Given the description of an element on the screen output the (x, y) to click on. 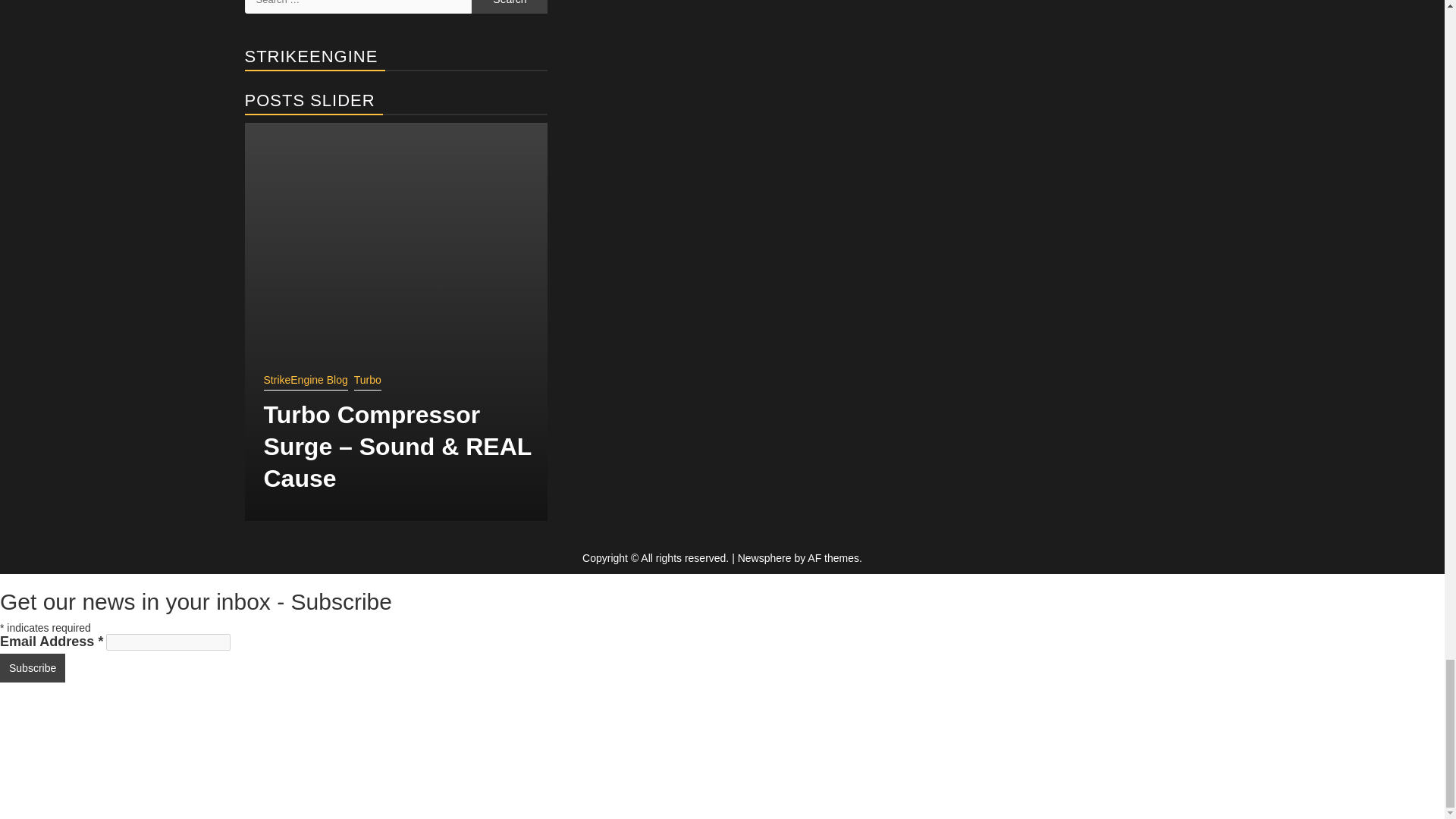
Subscribe (32, 667)
Search (509, 6)
Search (509, 6)
